Given the description of an element on the screen output the (x, y) to click on. 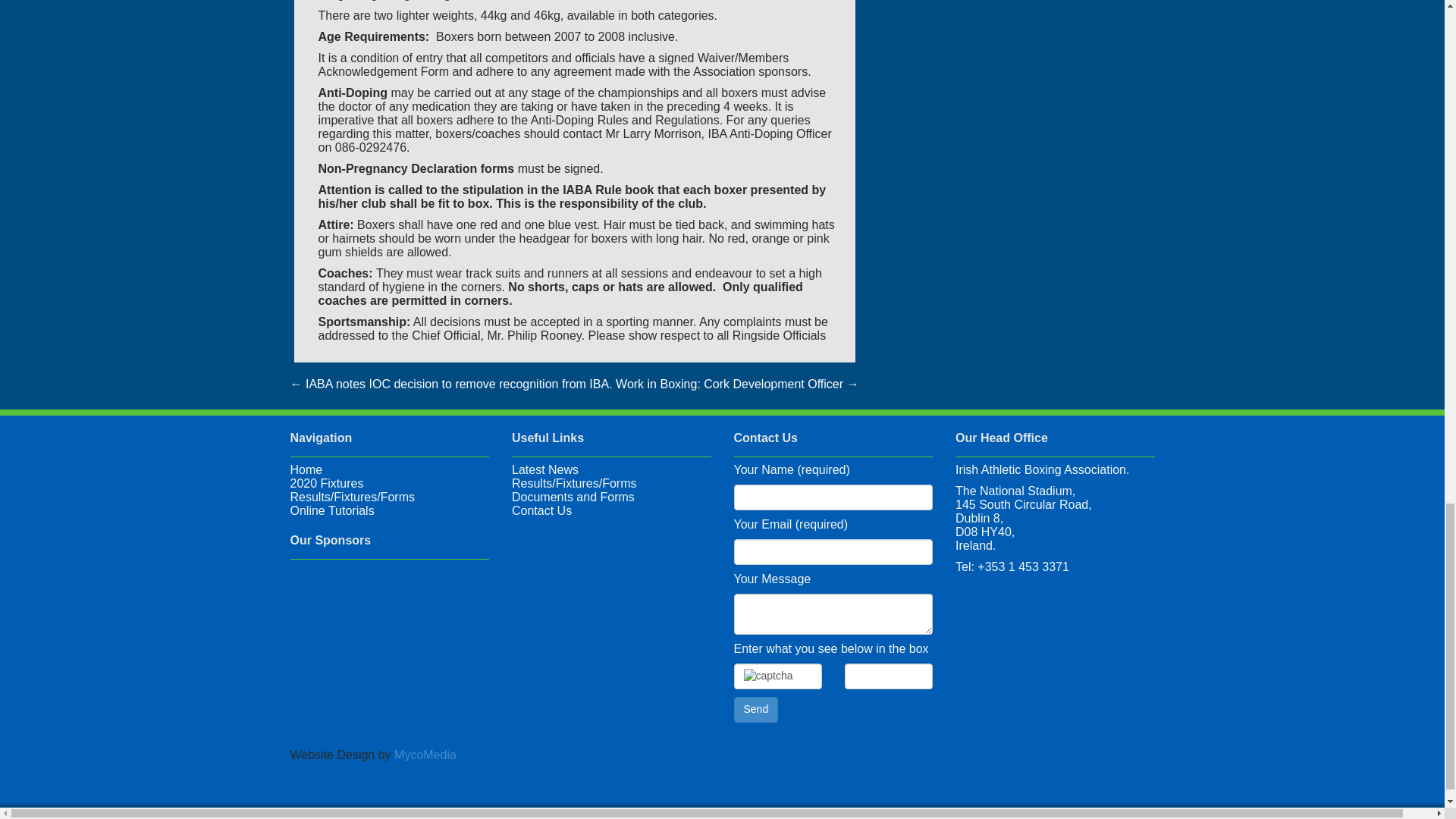
Send (755, 709)
